Given the description of an element on the screen output the (x, y) to click on. 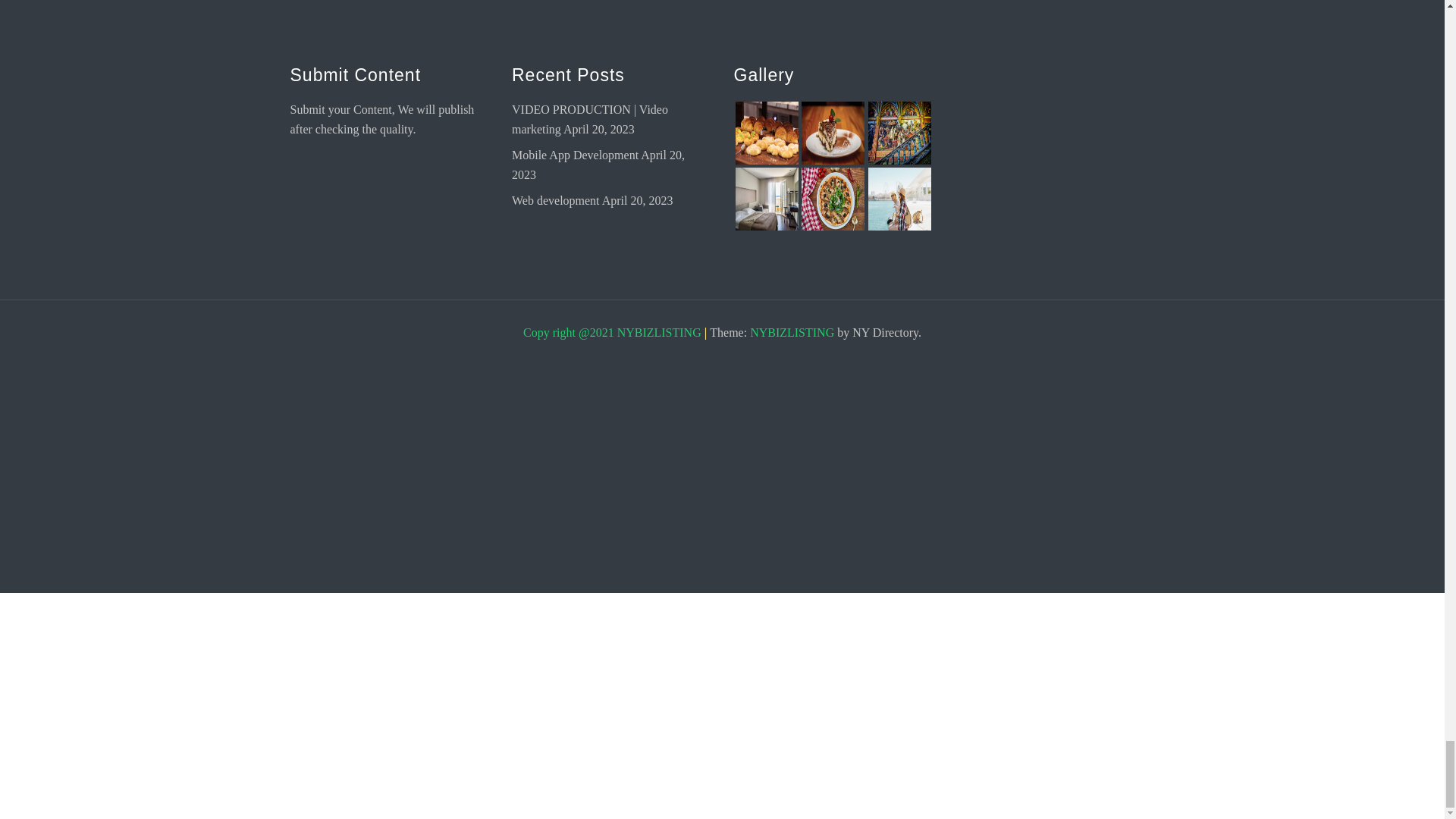
NY Directory (791, 332)
